Given the description of an element on the screen output the (x, y) to click on. 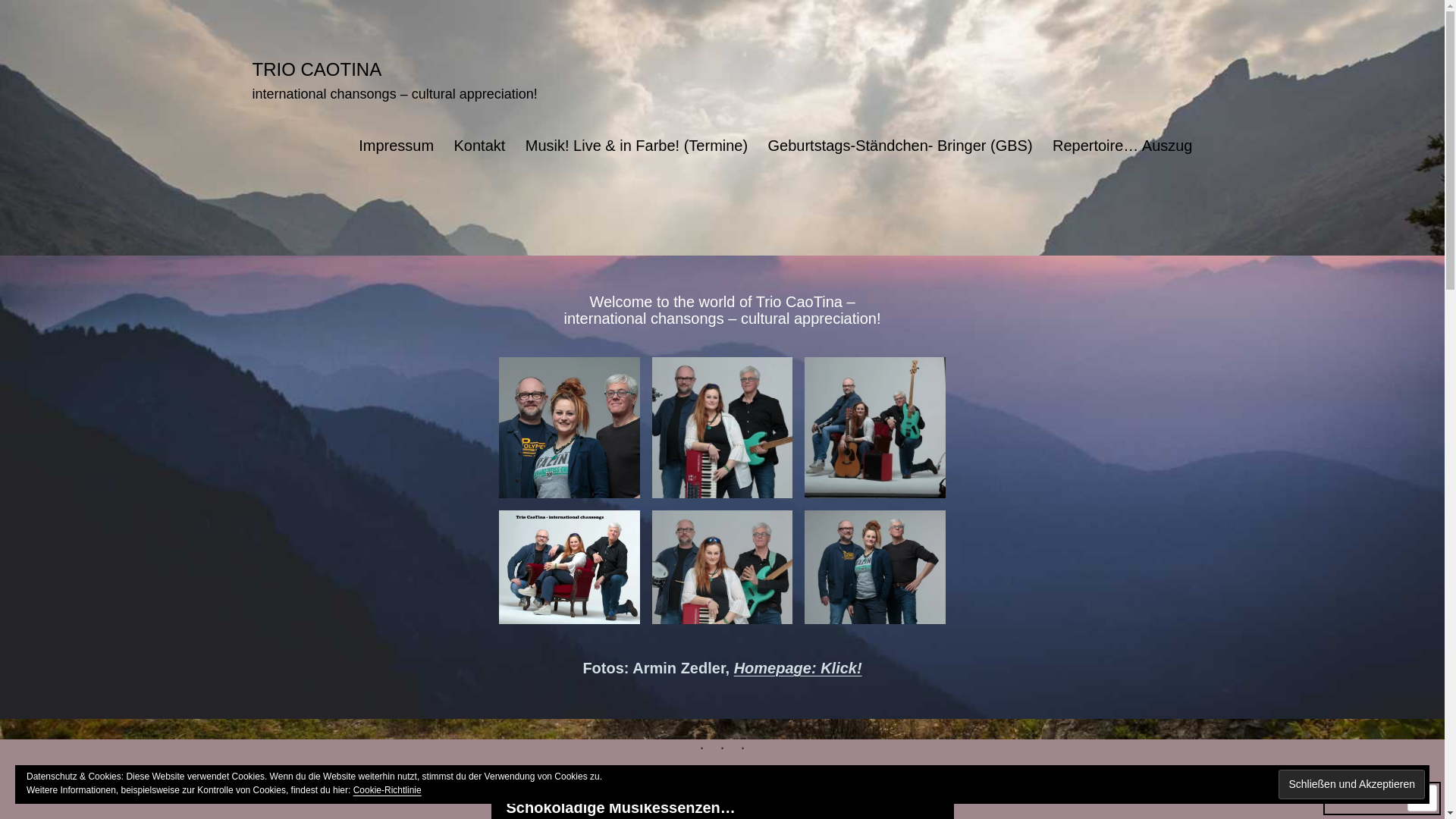
Homepage: Klick! Element type: text (798, 667)
Impressum Element type: text (395, 144)
Musik! Live & in Farbe! (Termine) Element type: text (636, 144)
Cookie-Richtlinie Element type: text (387, 789)
Dunkelmodus: Element type: text (1381, 798)
Kontakt Element type: text (478, 144)
